Given the description of an element on the screen output the (x, y) to click on. 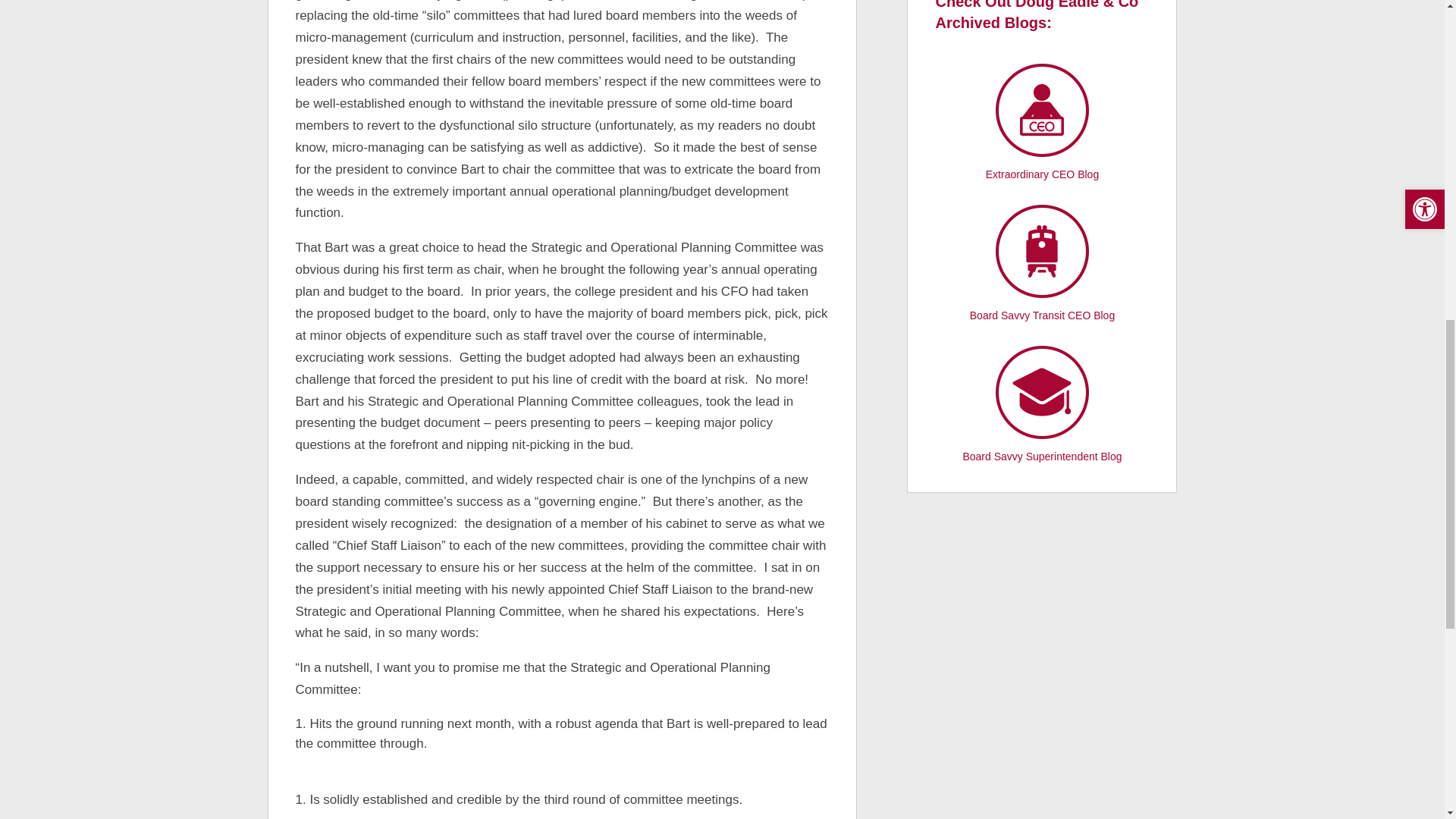
extraordinary (1041, 109)
transit-CEO (1041, 250)
super-savvy (1041, 391)
